Given the description of an element on the screen output the (x, y) to click on. 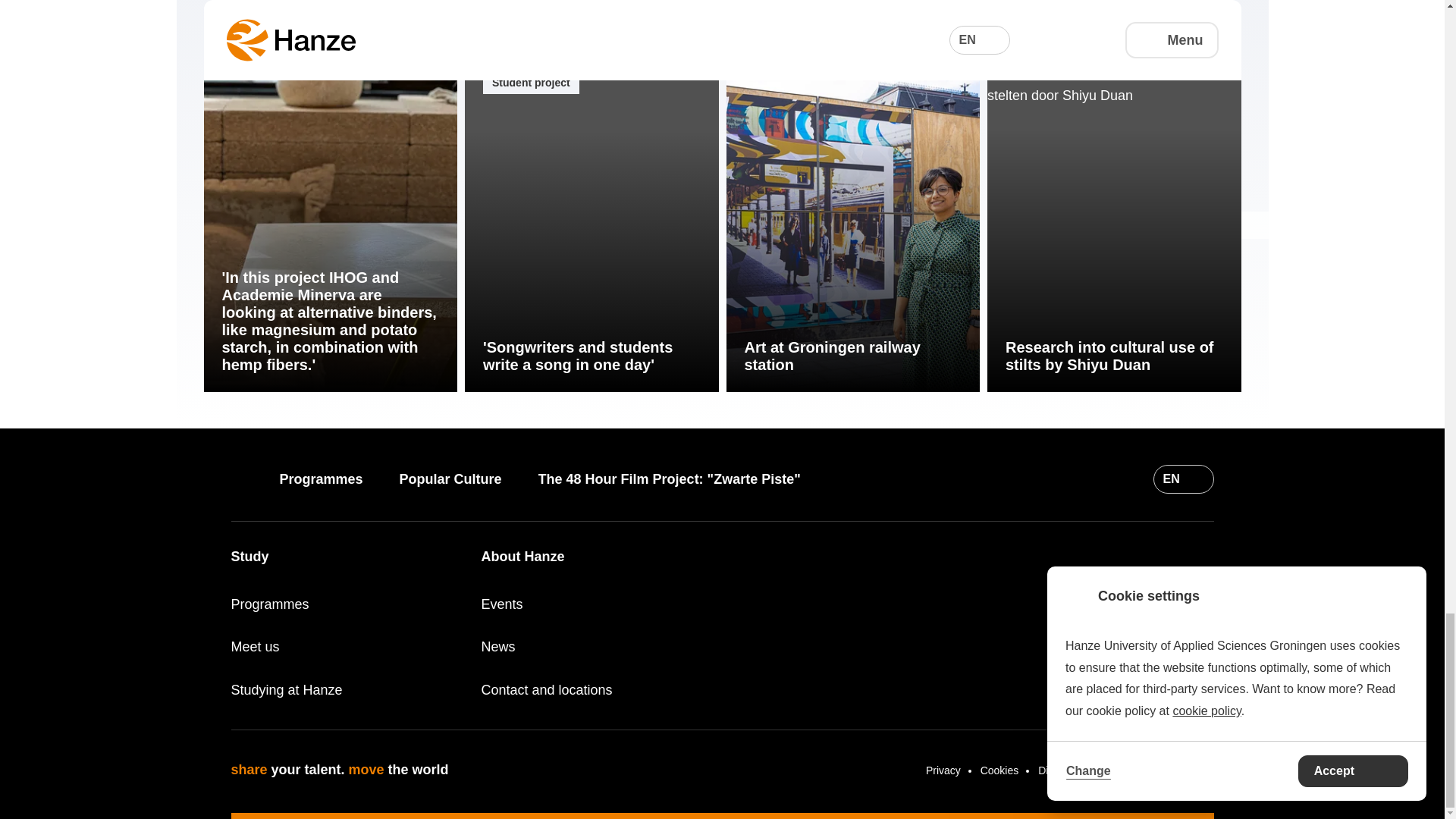
Sla over (217, 88)
